Given the description of an element on the screen output the (x, y) to click on. 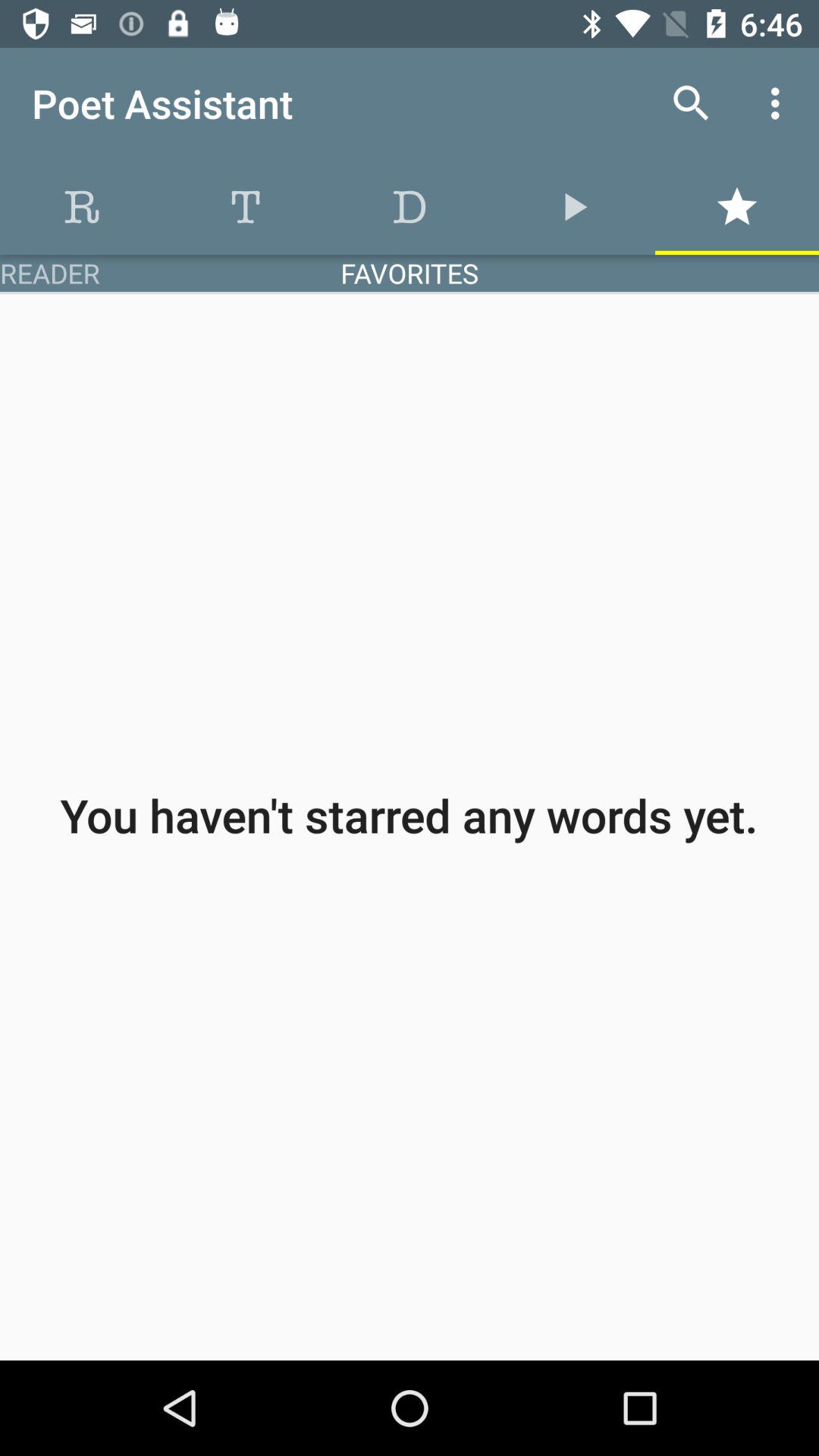
select symbol r (82, 207)
click search icon in top right corner (691, 103)
click  on  the favorites icon (737, 207)
select the t icon right to the r icon below poet assistant (245, 207)
